Given the description of an element on the screen output the (x, y) to click on. 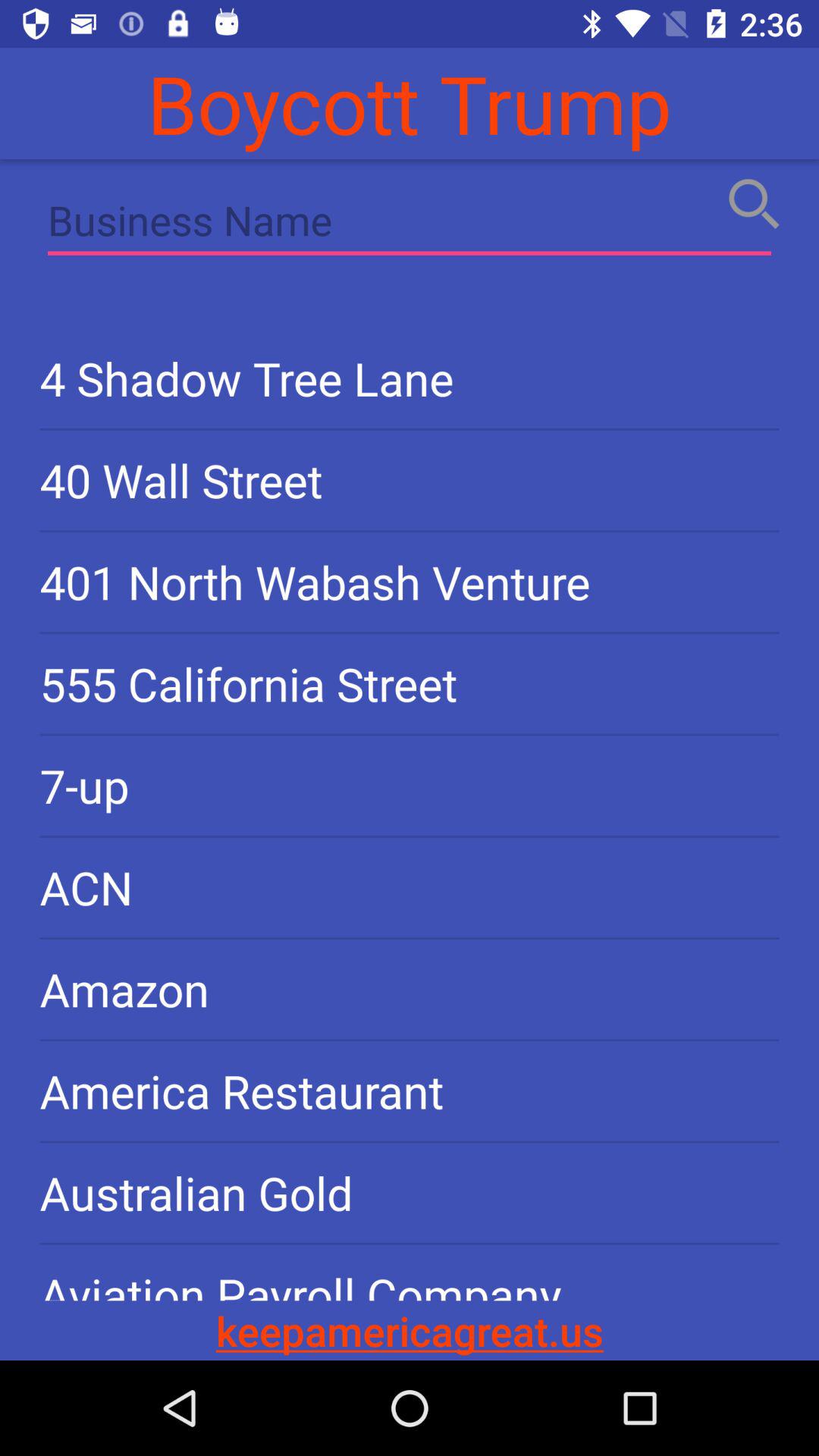
tap the australian gold item (409, 1192)
